Given the description of an element on the screen output the (x, y) to click on. 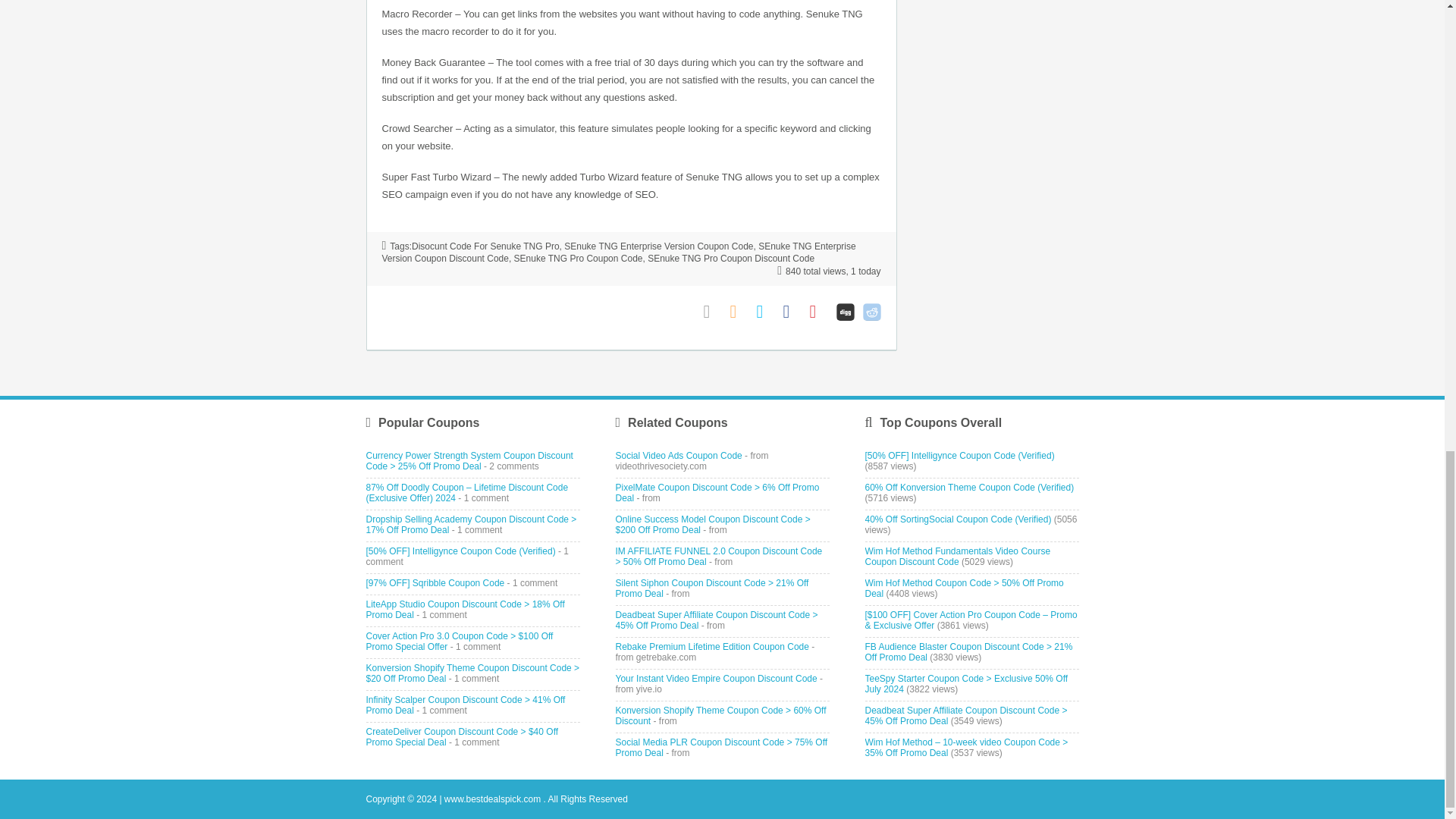
Coupon Comments RSS (738, 312)
Facebook (791, 312)
SEnuke TNG Pro Coupon Code (578, 258)
SEnuke TNG Pro Coupon Discount Code (730, 258)
Twitter (765, 312)
Digg (844, 312)
SEnuke TNG Enterprise Version Coupon Code (658, 245)
SEnuke TNG Enterprise Version Coupon Discount Code (618, 251)
Pinterest (818, 312)
Reddit (871, 312)
Email to Friend (712, 312)
Disocunt Code For Senuke TNG Pro (485, 245)
